Given the description of an element on the screen output the (x, y) to click on. 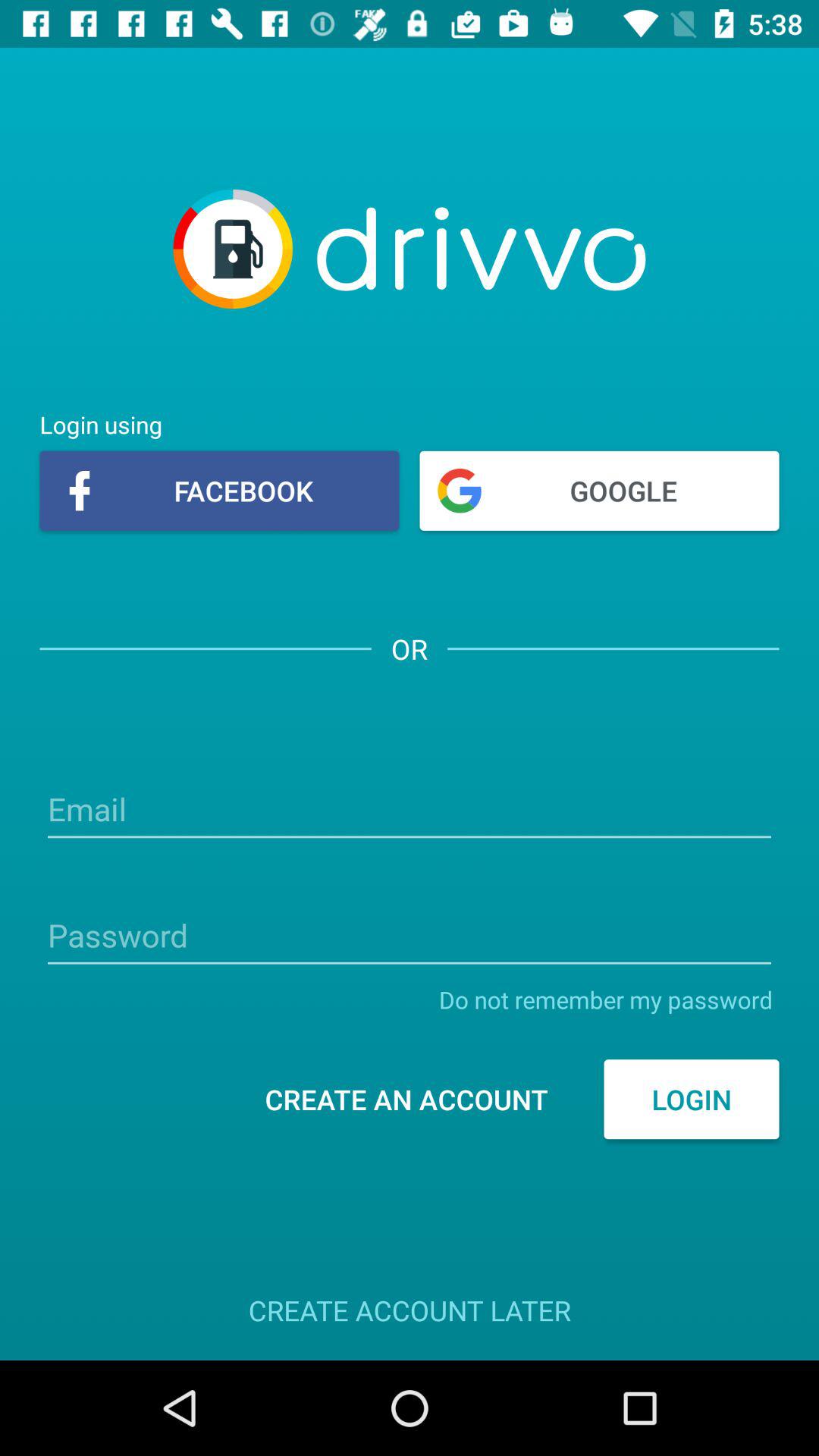
enter password to login (409, 937)
